Given the description of an element on the screen output the (x, y) to click on. 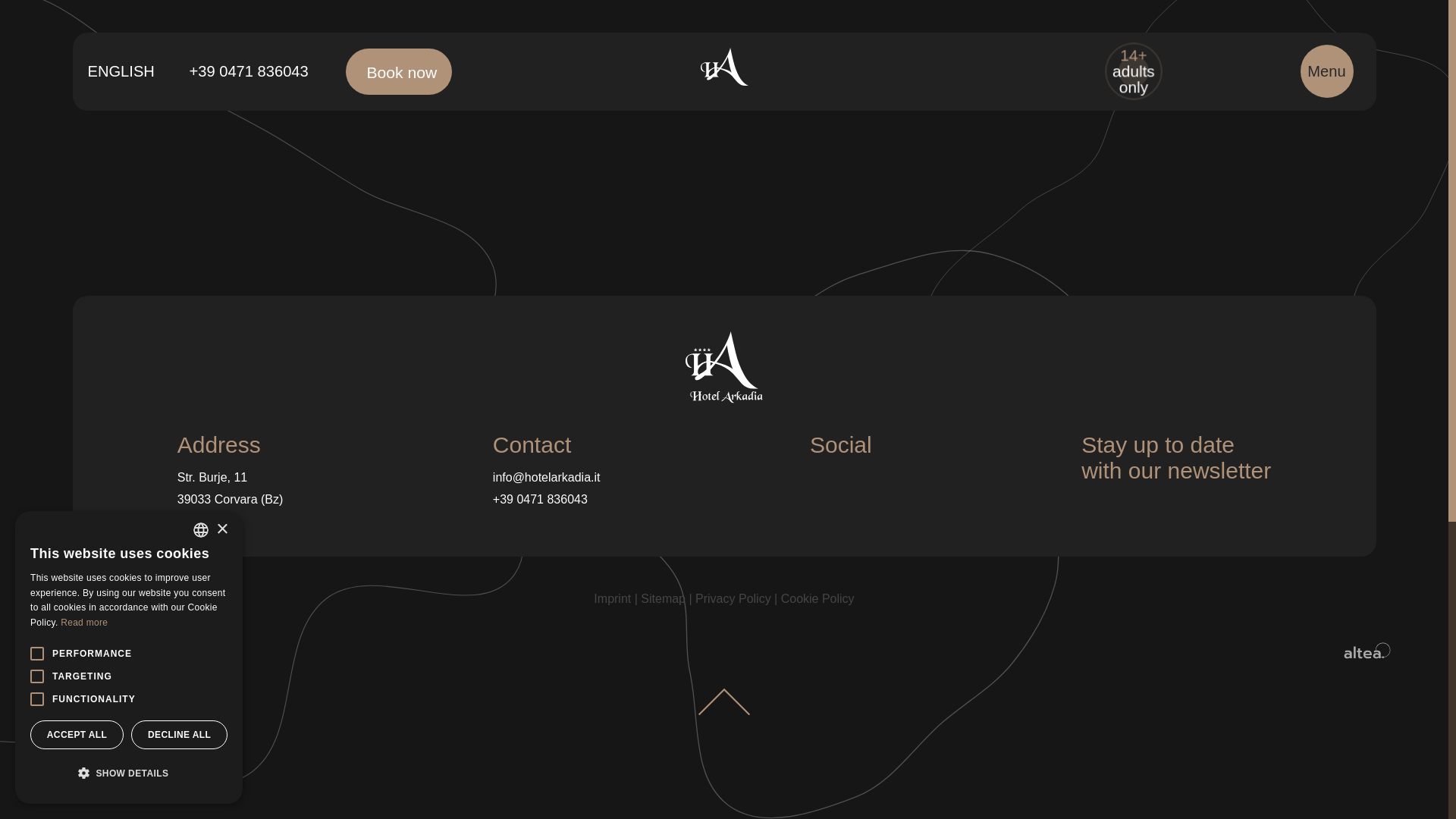
Agenzia Web Alto Adige (1366, 654)
